Given the description of an element on the screen output the (x, y) to click on. 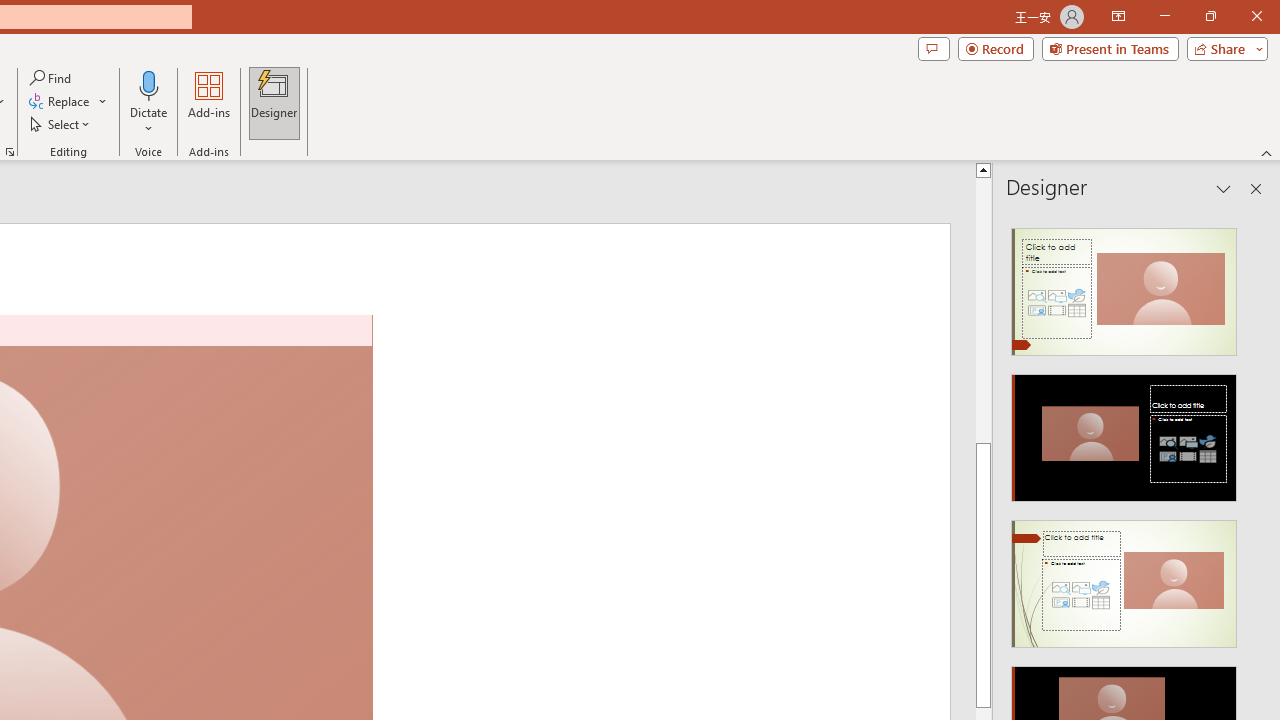
Replace... (60, 101)
Minimize (1164, 16)
Page up (1271, 309)
Restore Down (1210, 16)
More Options (149, 121)
Replace... (68, 101)
Select (61, 124)
Close pane (1256, 188)
Present in Teams (1109, 48)
Comments (933, 48)
Design Idea (1124, 577)
Record (995, 48)
Line up (1271, 169)
